Given the description of an element on the screen output the (x, y) to click on. 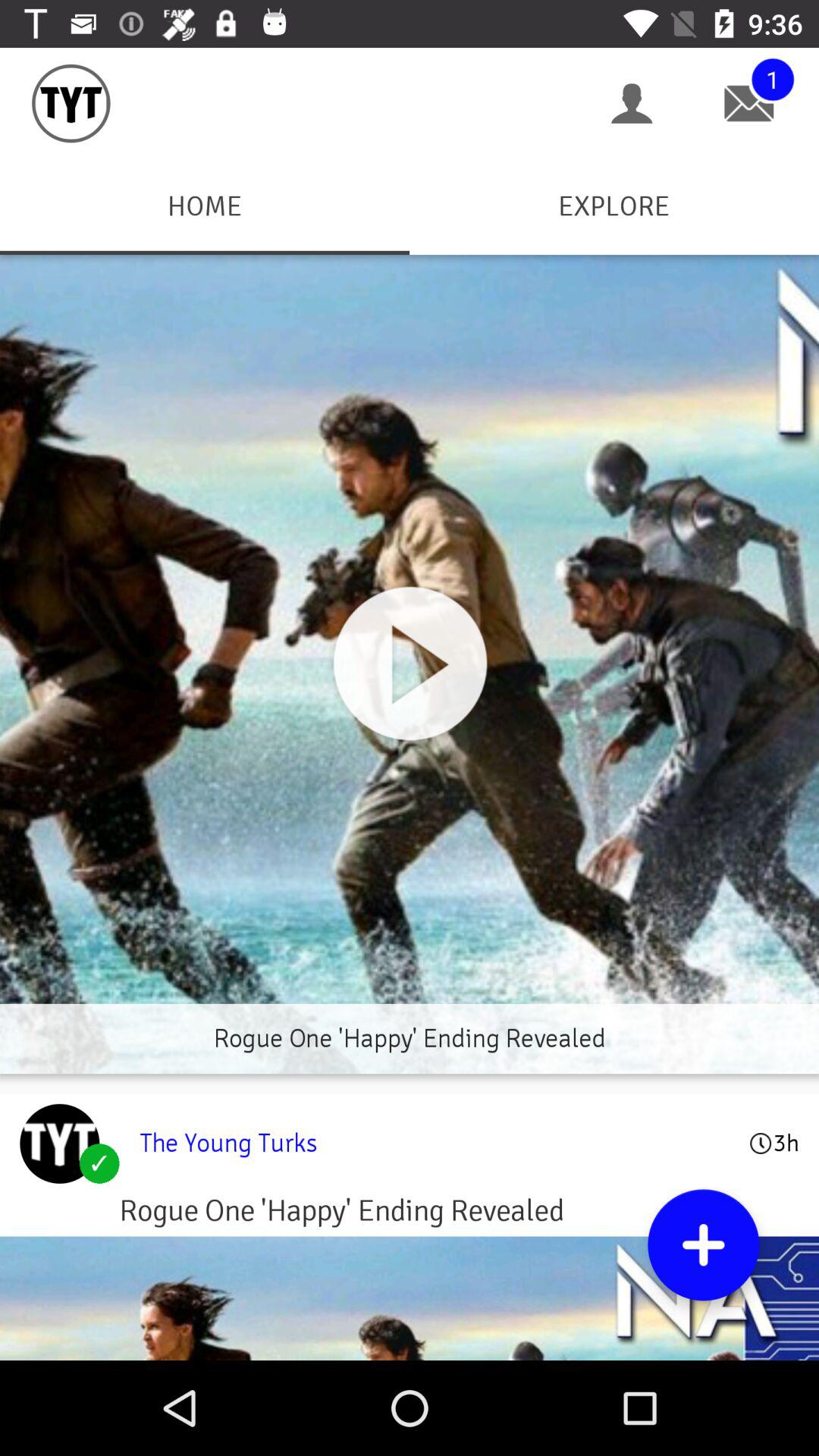
launch the icon next to 3h (434, 1143)
